Given the description of an element on the screen output the (x, y) to click on. 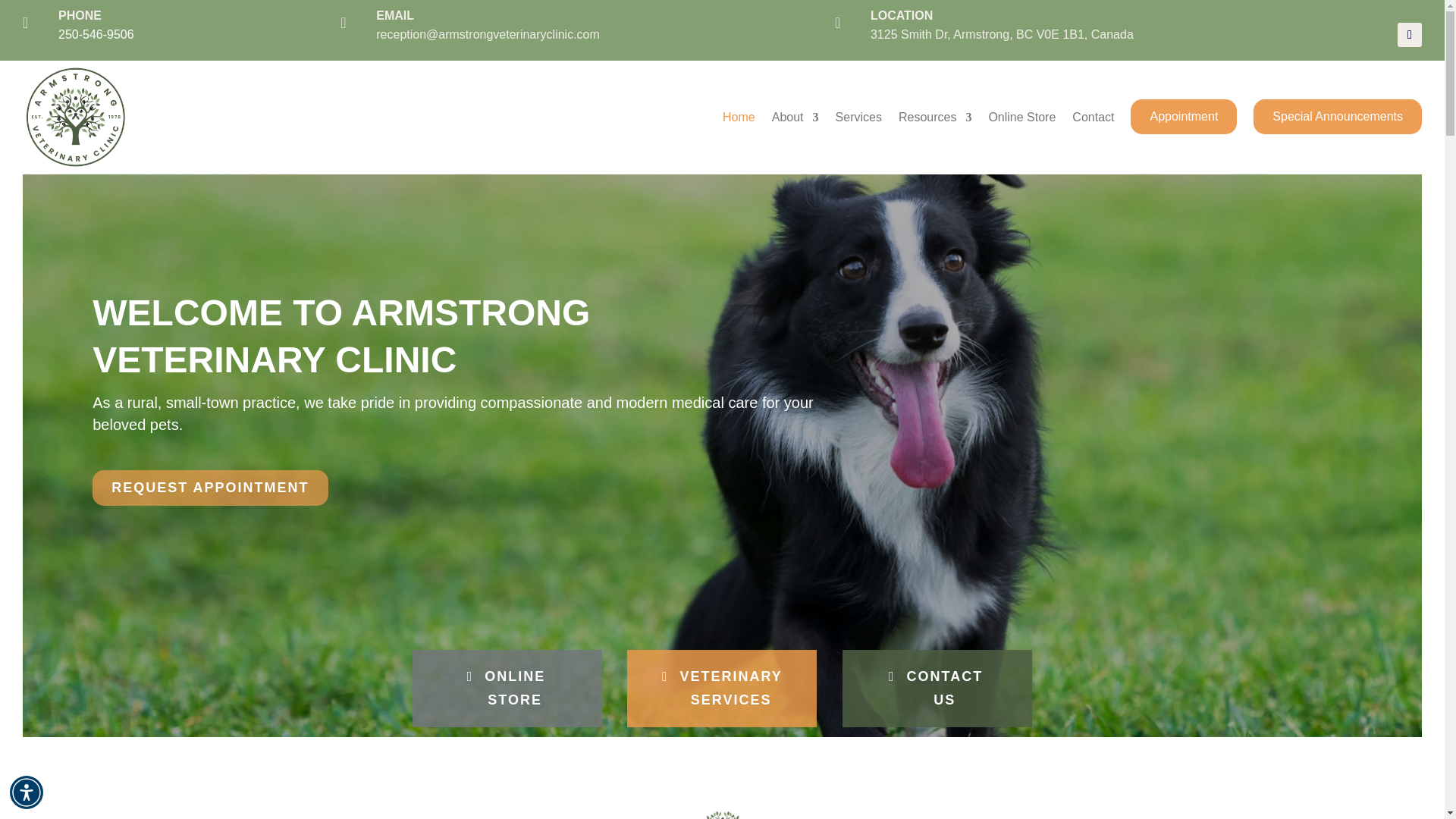
3125 Smith Dr, Armstrong, BC V0E 1B1, Canada (1002, 33)
Online Store (1021, 117)
Resources (934, 117)
Appointment (1183, 115)
Follow on Facebook (1409, 34)
Special Announcements (1337, 115)
Accessibility Menu (26, 792)
